Given the description of an element on the screen output the (x, y) to click on. 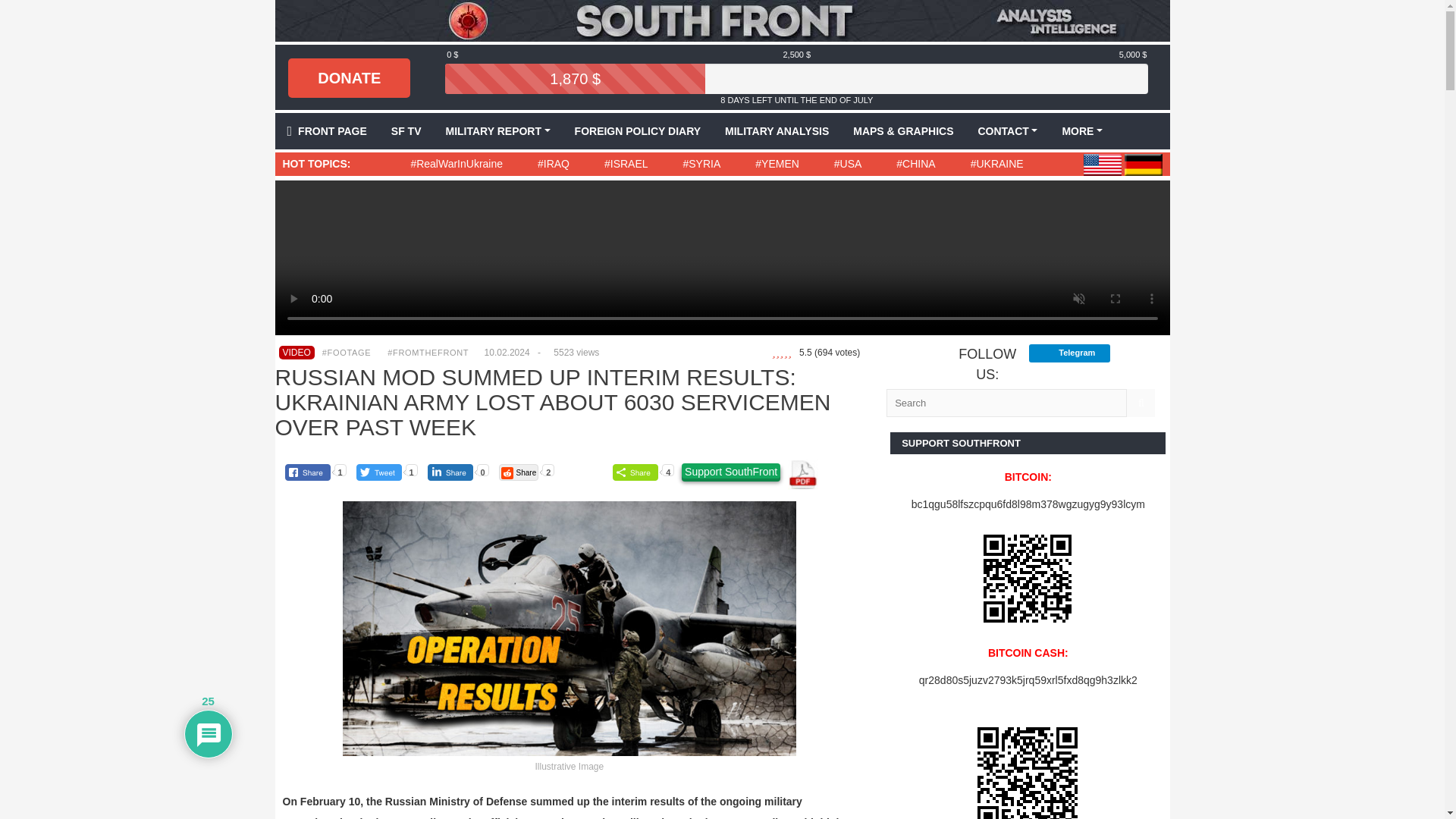
Contact (1007, 131)
South Front (722, 19)
FRONT PAGE (326, 131)
SF TV (405, 131)
CONTACT (1007, 131)
MILITARY REPORT (497, 131)
MORE (1082, 131)
Military Analysis (777, 131)
DONATE (349, 77)
SF TV (405, 131)
MILITARY ANALYSIS (777, 131)
Military Report (497, 131)
FOREIGN POLICY DIARY (637, 131)
FRONT PAGE (326, 131)
FOREIGN POLICY DIARY (637, 131)
